Given the description of an element on the screen output the (x, y) to click on. 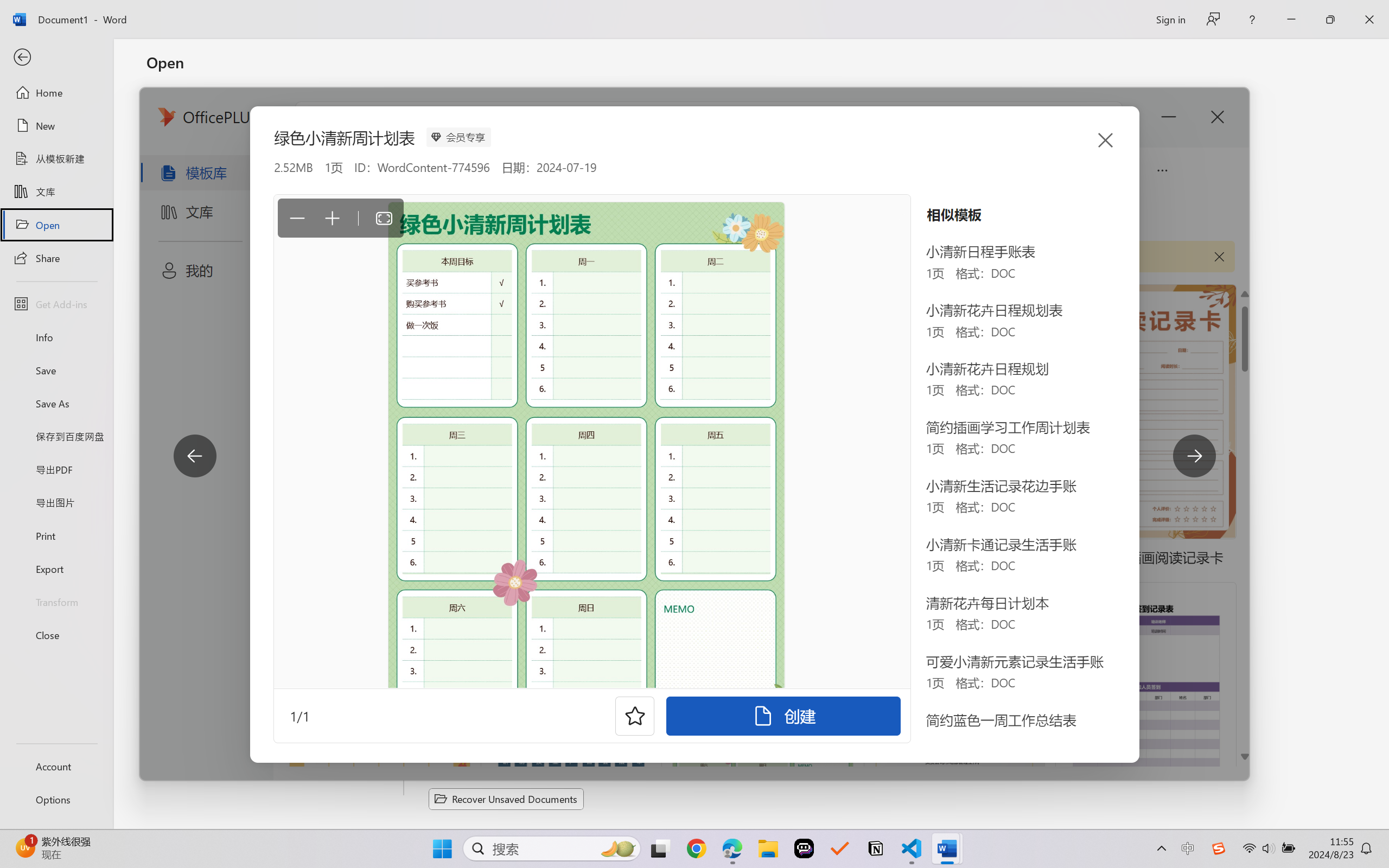
OneDrive (275, 195)
Recover Unsaved Documents (506, 798)
